Given the description of an element on the screen output the (x, y) to click on. 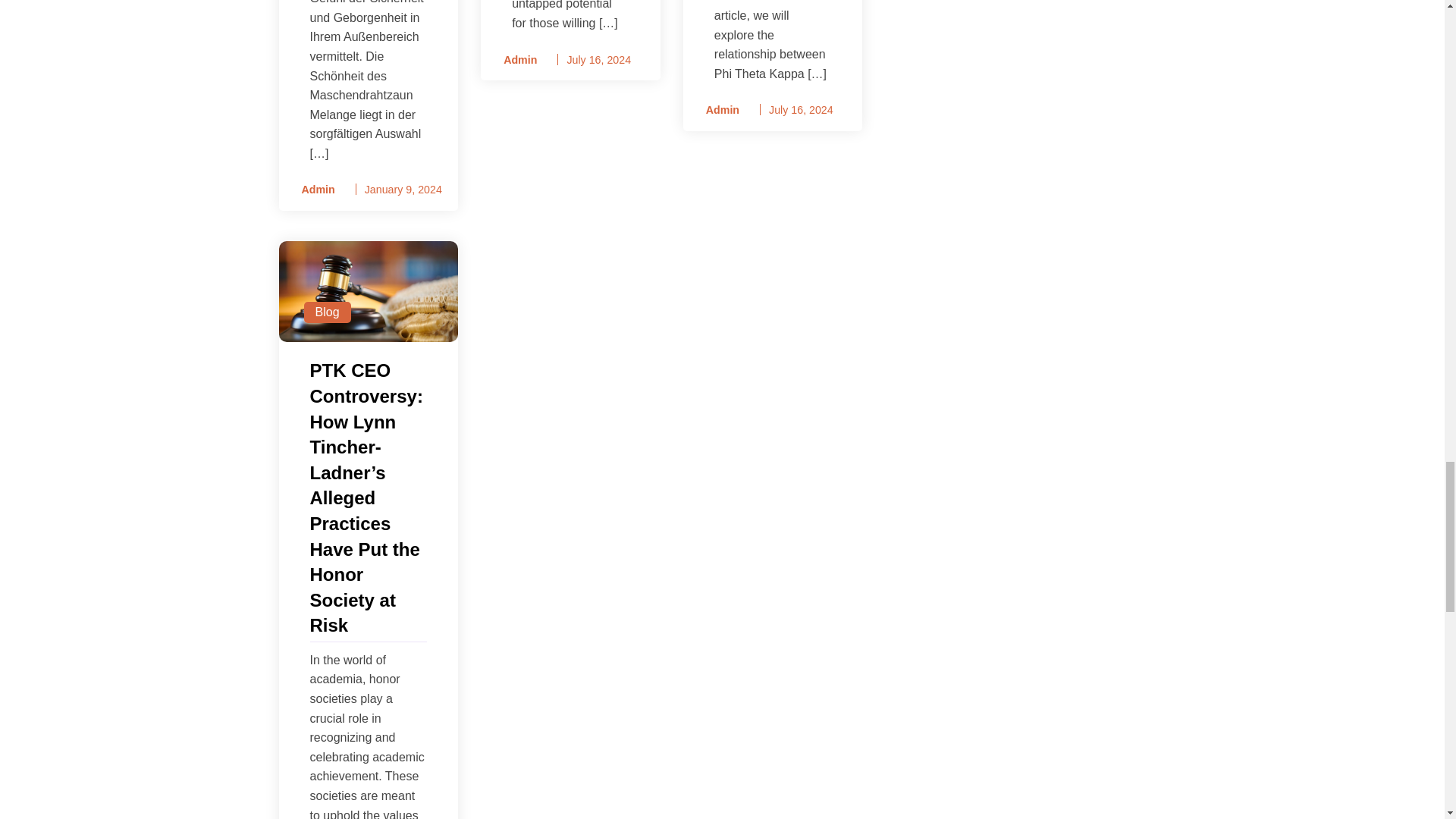
Admin (717, 109)
July 16, 2024 (800, 110)
Admin (312, 189)
Admin (515, 59)
July 16, 2024 (598, 60)
Blog (326, 312)
January 9, 2024 (403, 189)
